Given the description of an element on the screen output the (x, y) to click on. 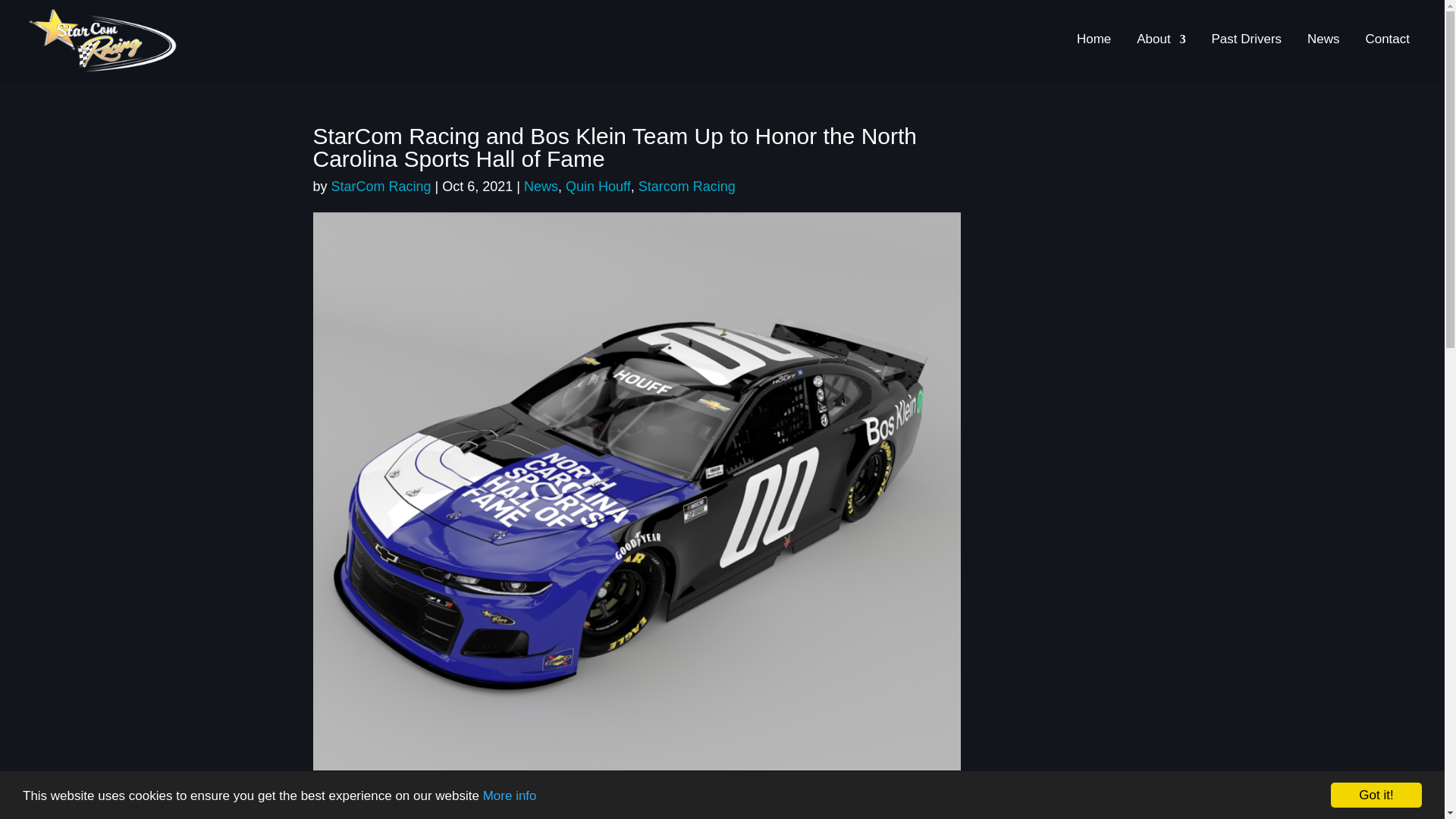
Quin Houff (598, 186)
News (1323, 57)
News (540, 186)
StarCom Racing (380, 186)
Posts by StarCom Racing (380, 186)
About (1161, 57)
Home (1093, 57)
Starcom Racing (687, 186)
Contact (1387, 57)
Past Drivers (1246, 57)
